Given the description of an element on the screen output the (x, y) to click on. 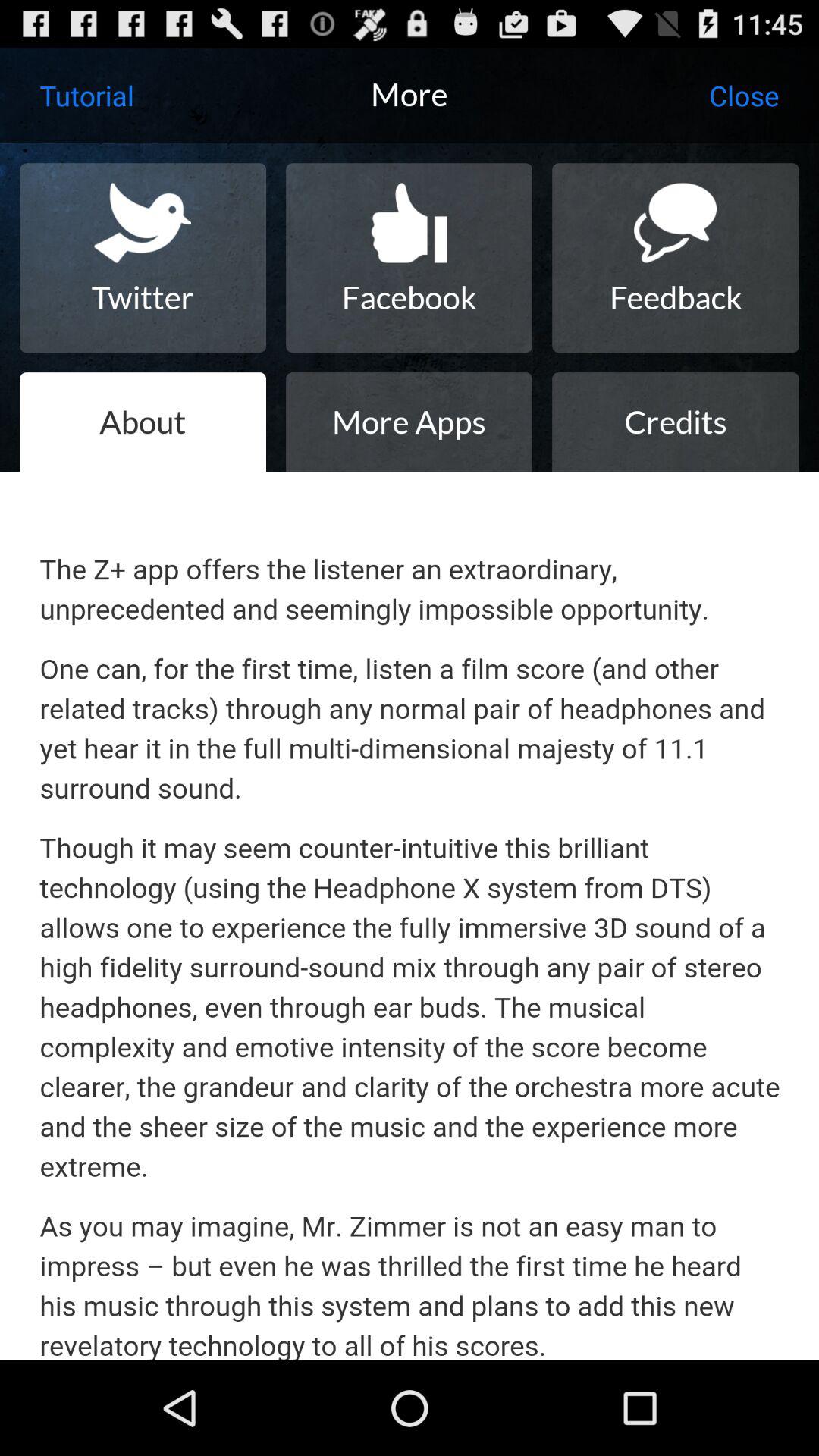
press the icon to the right of more icon (744, 95)
